Given the description of an element on the screen output the (x, y) to click on. 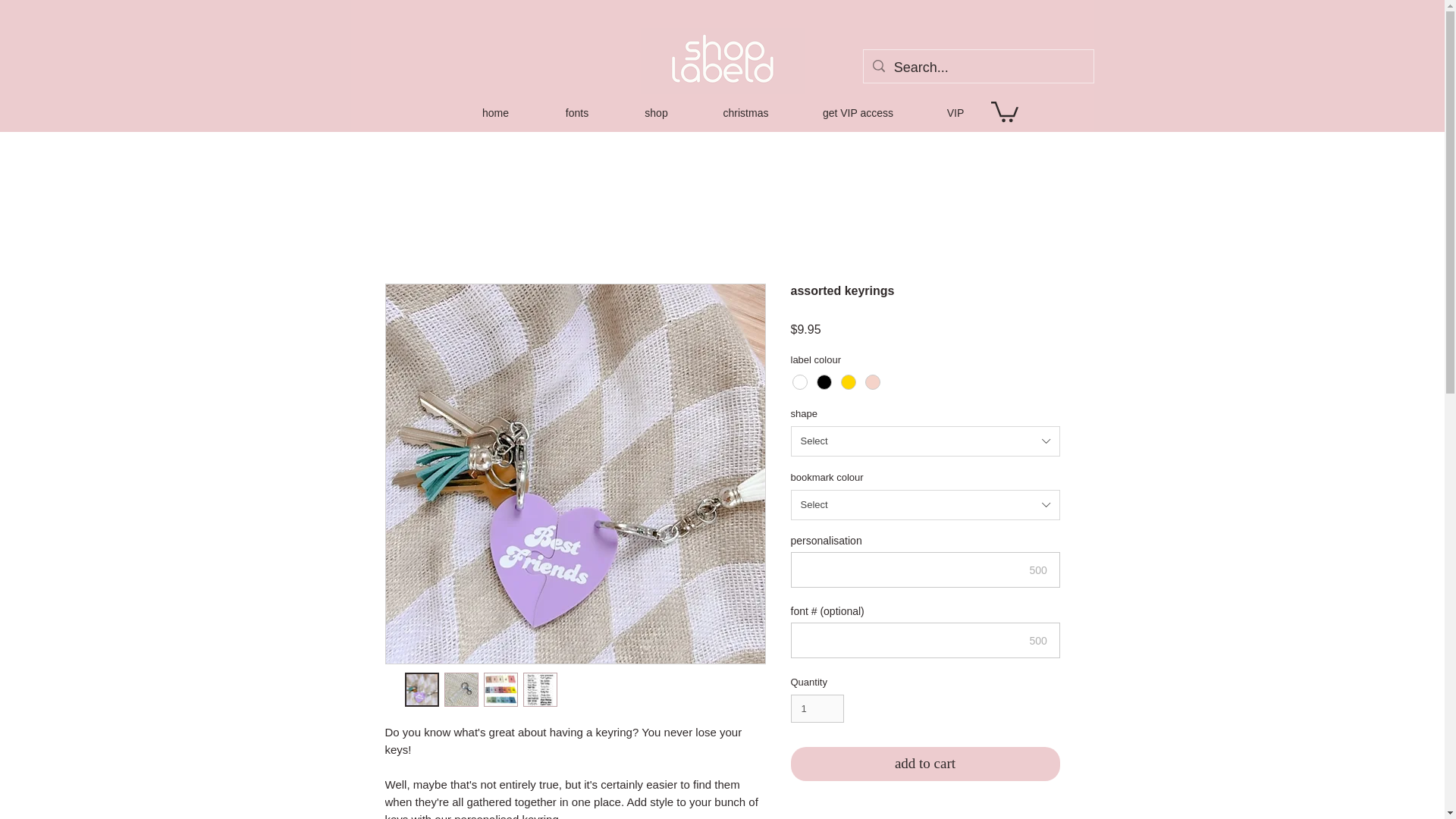
Select (924, 504)
fonts (576, 112)
get VIP access (858, 112)
christmas (745, 112)
VIP (955, 112)
home (494, 112)
Select (924, 440)
1 (817, 708)
add to cart (924, 763)
shop (656, 112)
